Given the description of an element on the screen output the (x, y) to click on. 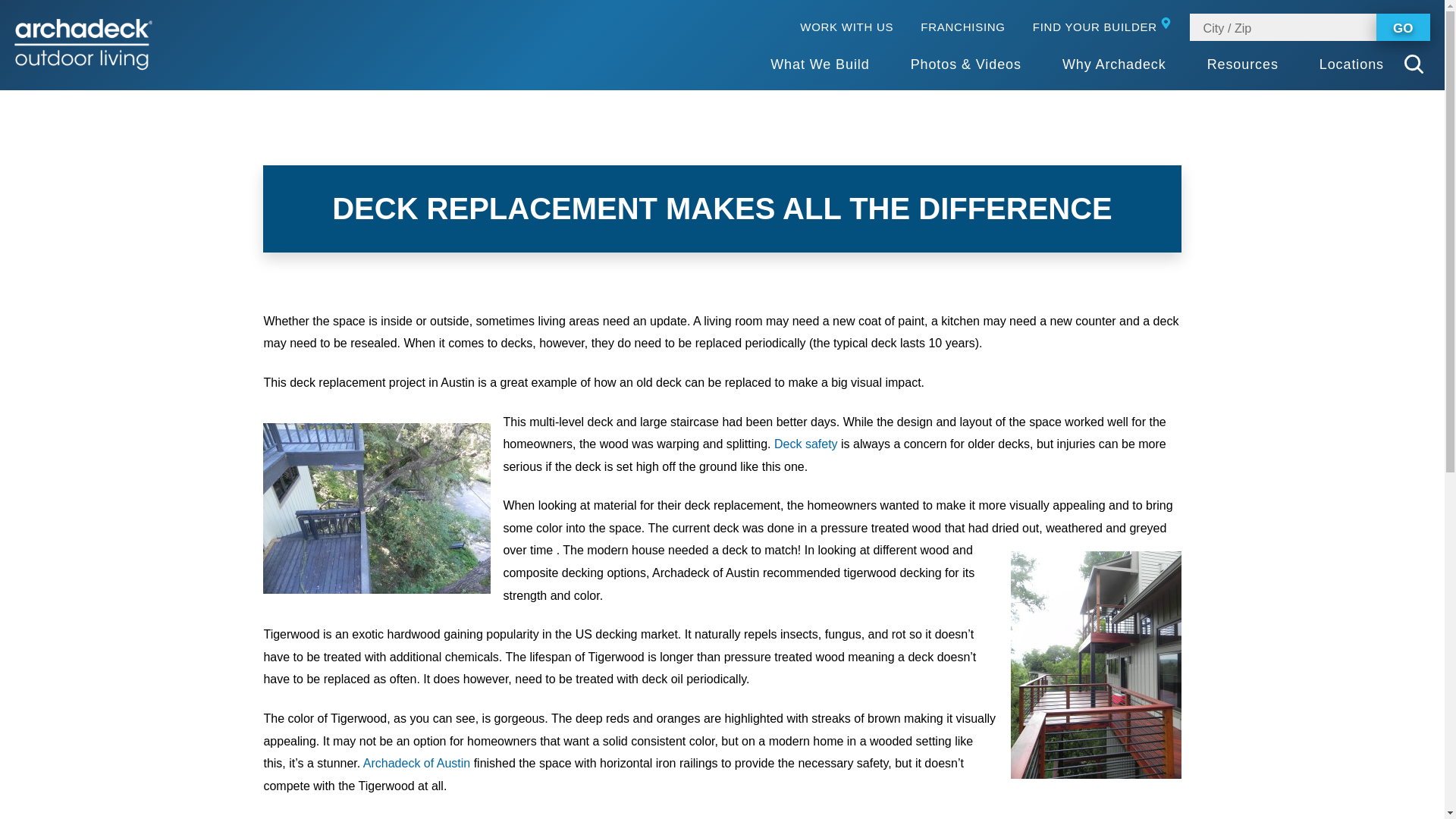
Why Archadeck (1114, 65)
WORK WITH US (846, 26)
What We Build (819, 65)
GO (1402, 26)
Archadeck (83, 44)
Resources (1242, 65)
FRANCHISING (962, 26)
FIND YOUR BUILDER (1104, 26)
